Given the description of an element on the screen output the (x, y) to click on. 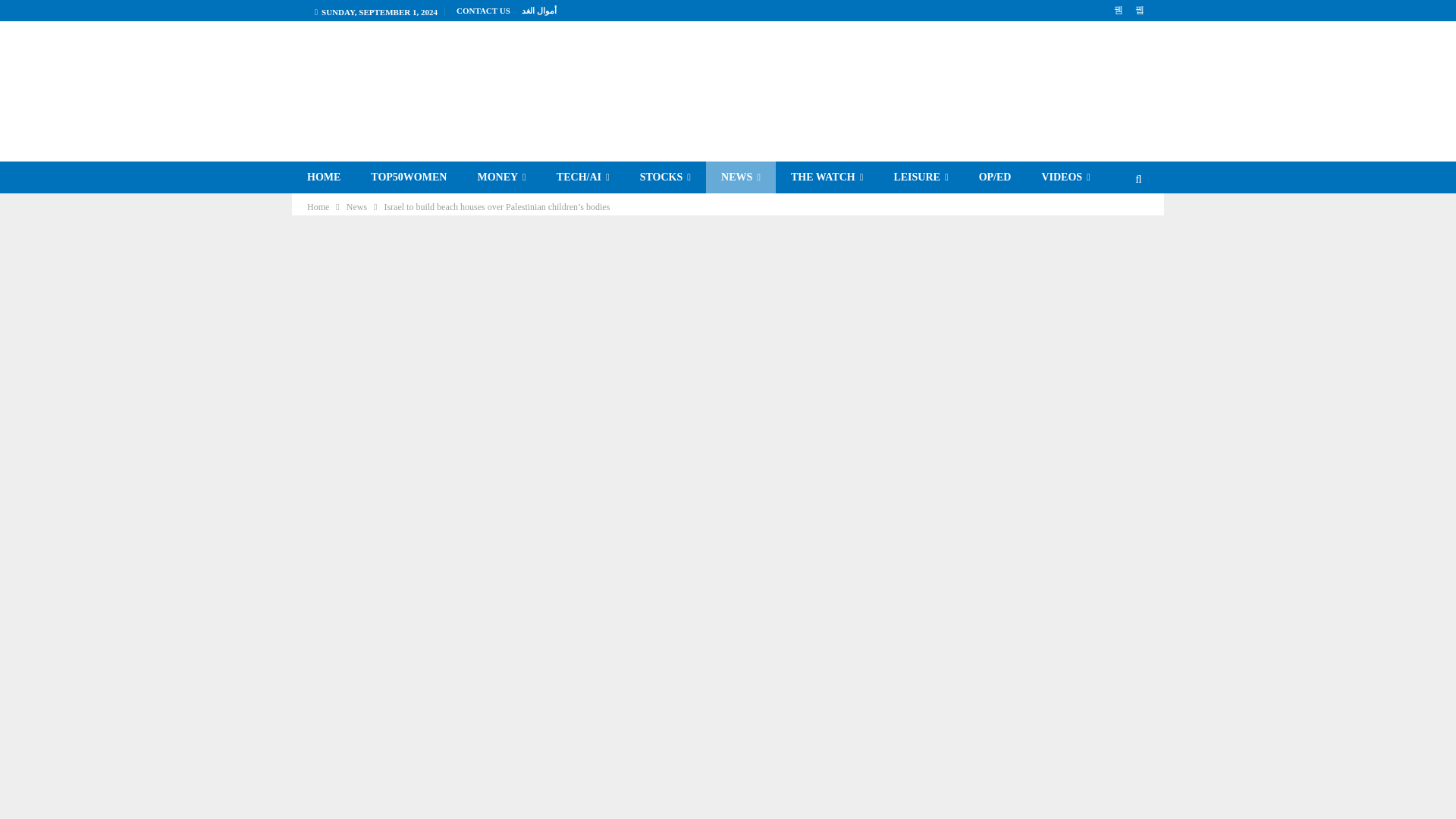
HOME (323, 177)
MONEY (500, 177)
STOCKS (665, 177)
CONTACT US (484, 10)
TOP50WOMEN (408, 177)
